Given the description of an element on the screen output the (x, y) to click on. 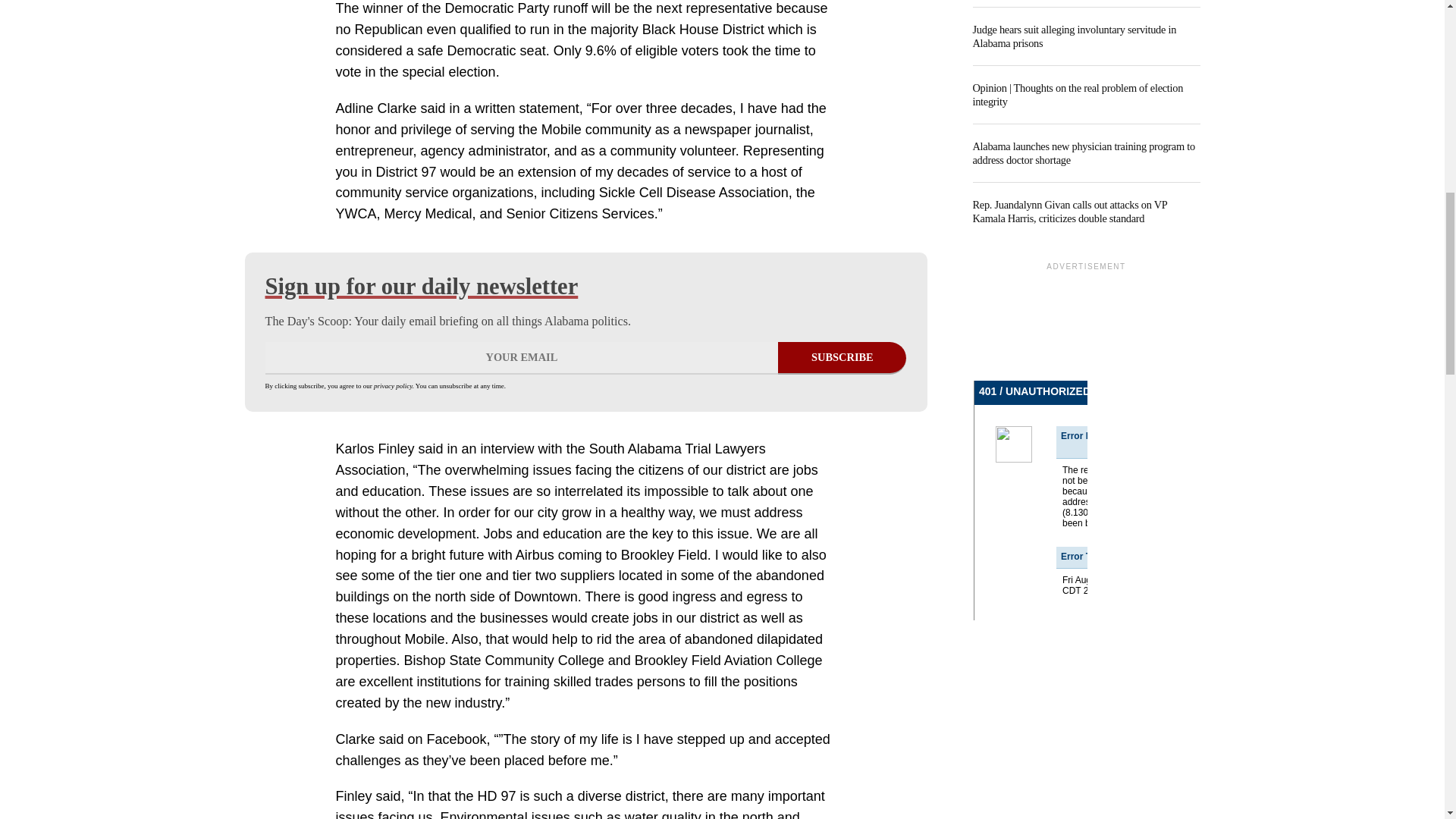
Subscribe (841, 358)
